Given the description of an element on the screen output the (x, y) to click on. 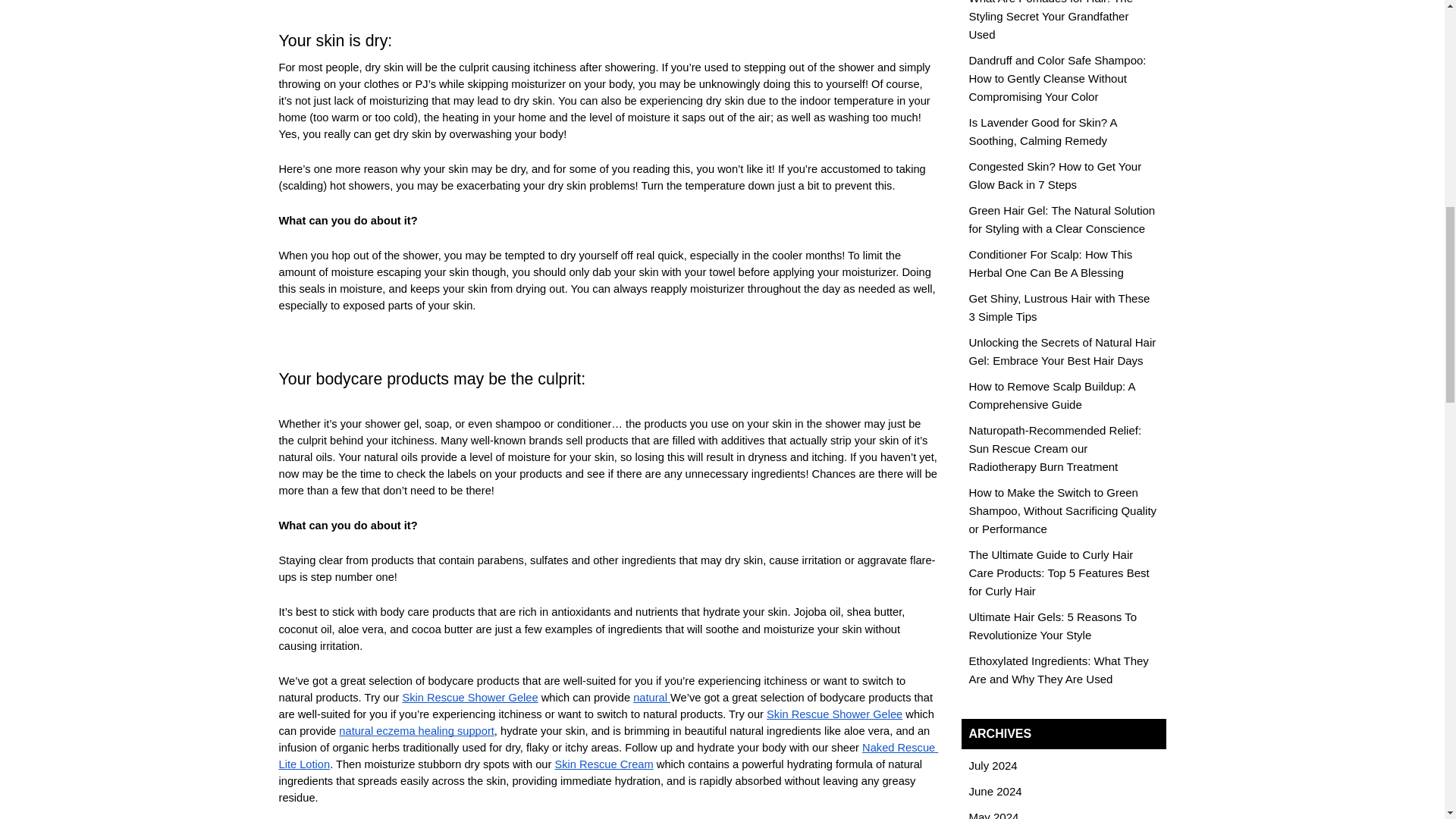
Skin Rescue Shower Gelee (834, 713)
Skin Rescue Cream (603, 763)
natural eczema healing support (417, 730)
Naked Rescue Lite Lotion (609, 755)
Skin Rescue Shower Gelee (469, 697)
